Given the description of an element on the screen output the (x, y) to click on. 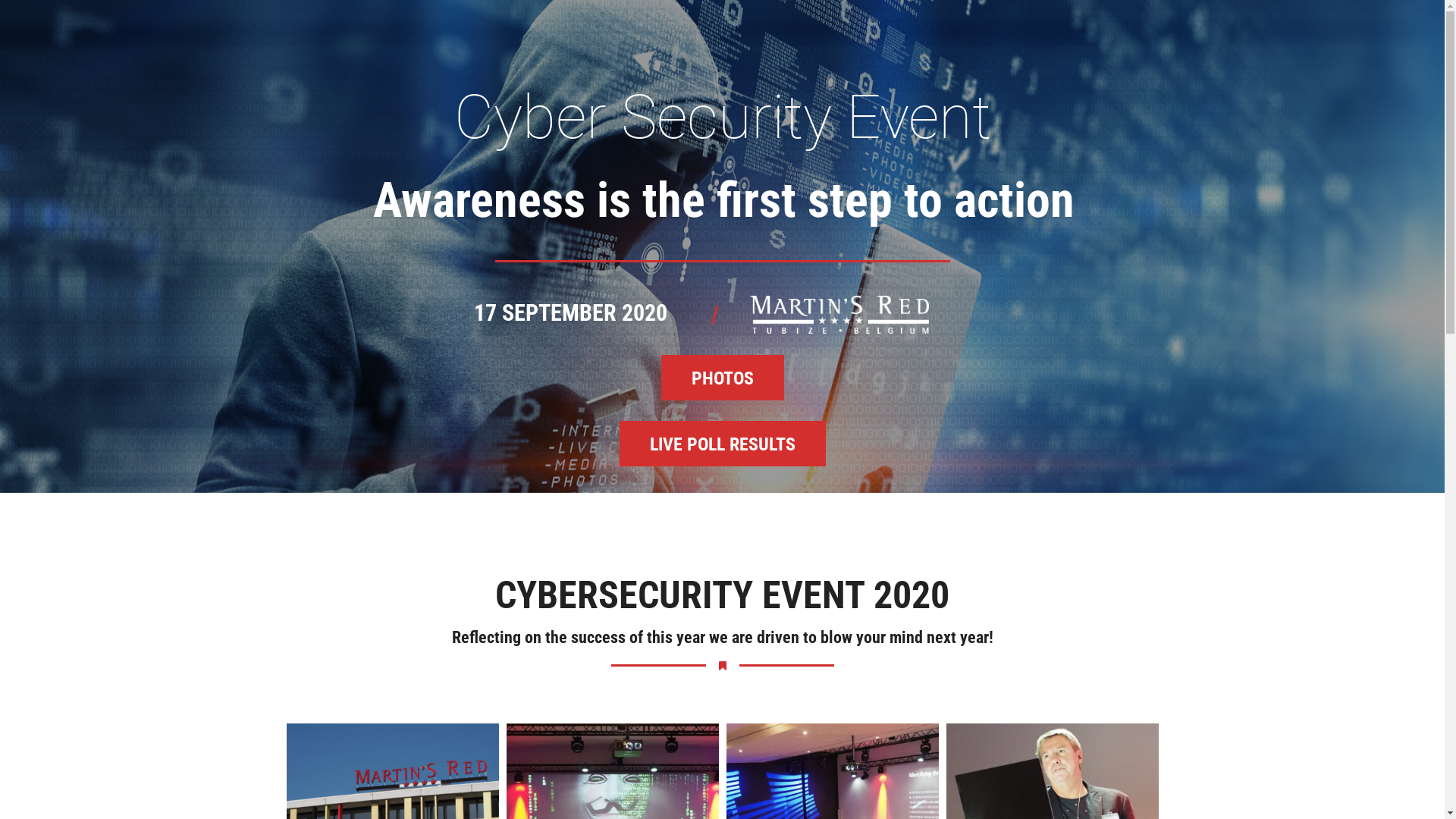
PHOTOS Element type: text (722, 377)
LIVE POLL RESULTS Element type: text (721, 443)
